Given the description of an element on the screen output the (x, y) to click on. 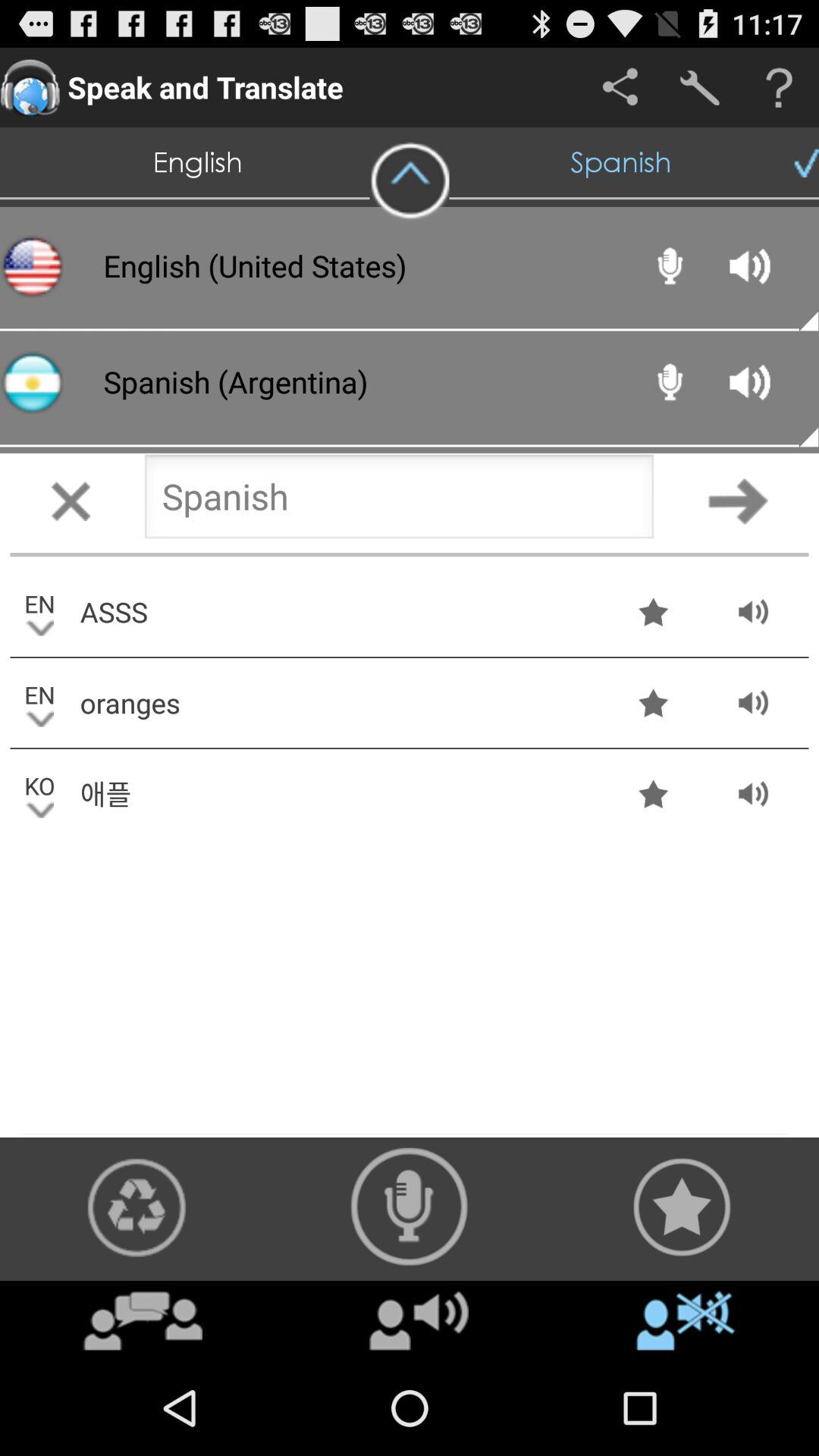
favorite translation button (682, 1206)
